Given the description of an element on the screen output the (x, y) to click on. 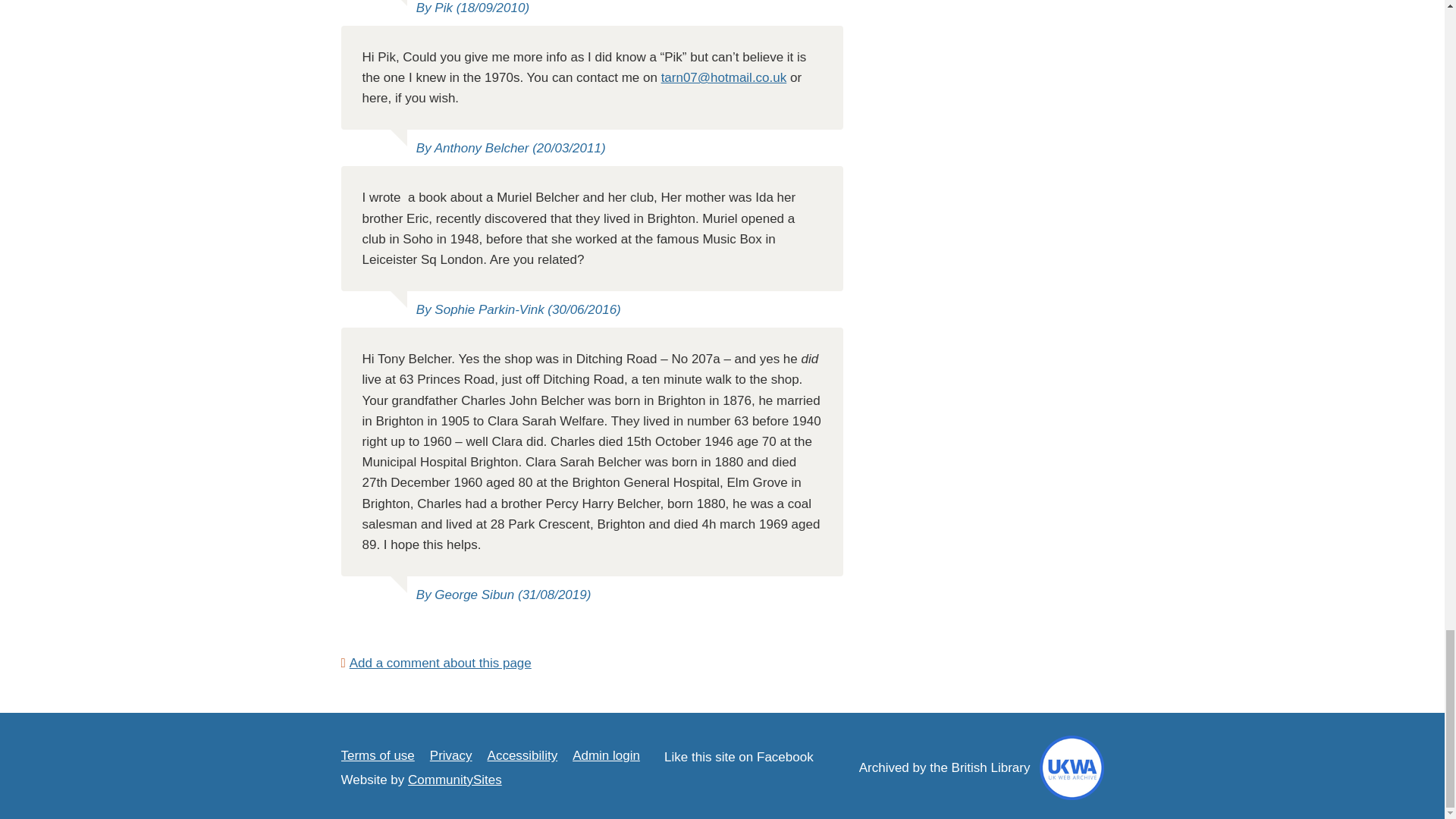
Add a comment about this page (435, 662)
